Given the description of an element on the screen output the (x, y) to click on. 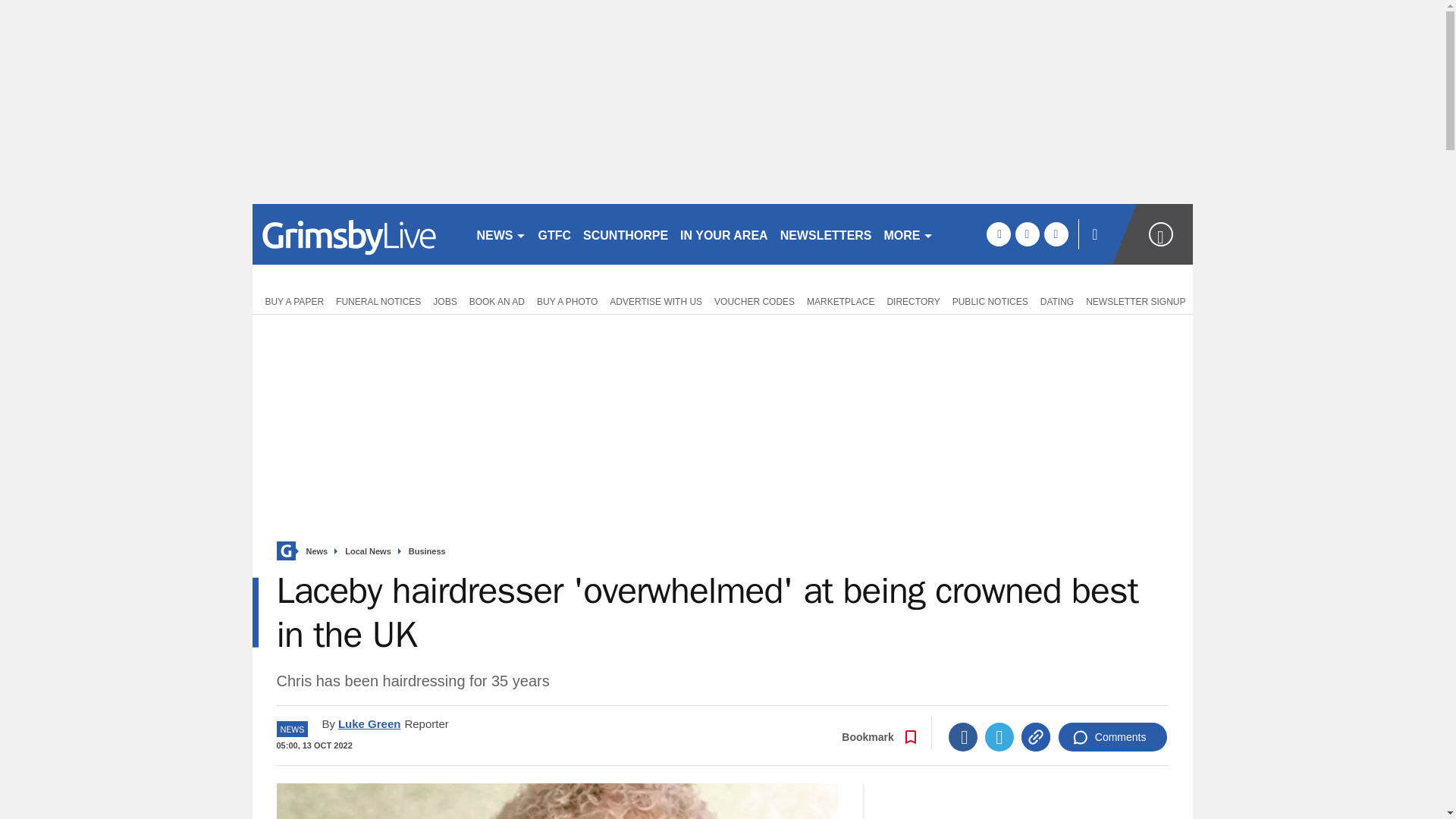
BUY A PHOTO (567, 300)
BOOK AN AD (497, 300)
BUY A PAPER (290, 300)
FUNERAL NOTICES (378, 300)
Facebook (962, 736)
JOBS (444, 300)
MORE (908, 233)
VOUCHER CODES (753, 300)
SCUNTHORPE (625, 233)
Twitter (999, 736)
